Given the description of an element on the screen output the (x, y) to click on. 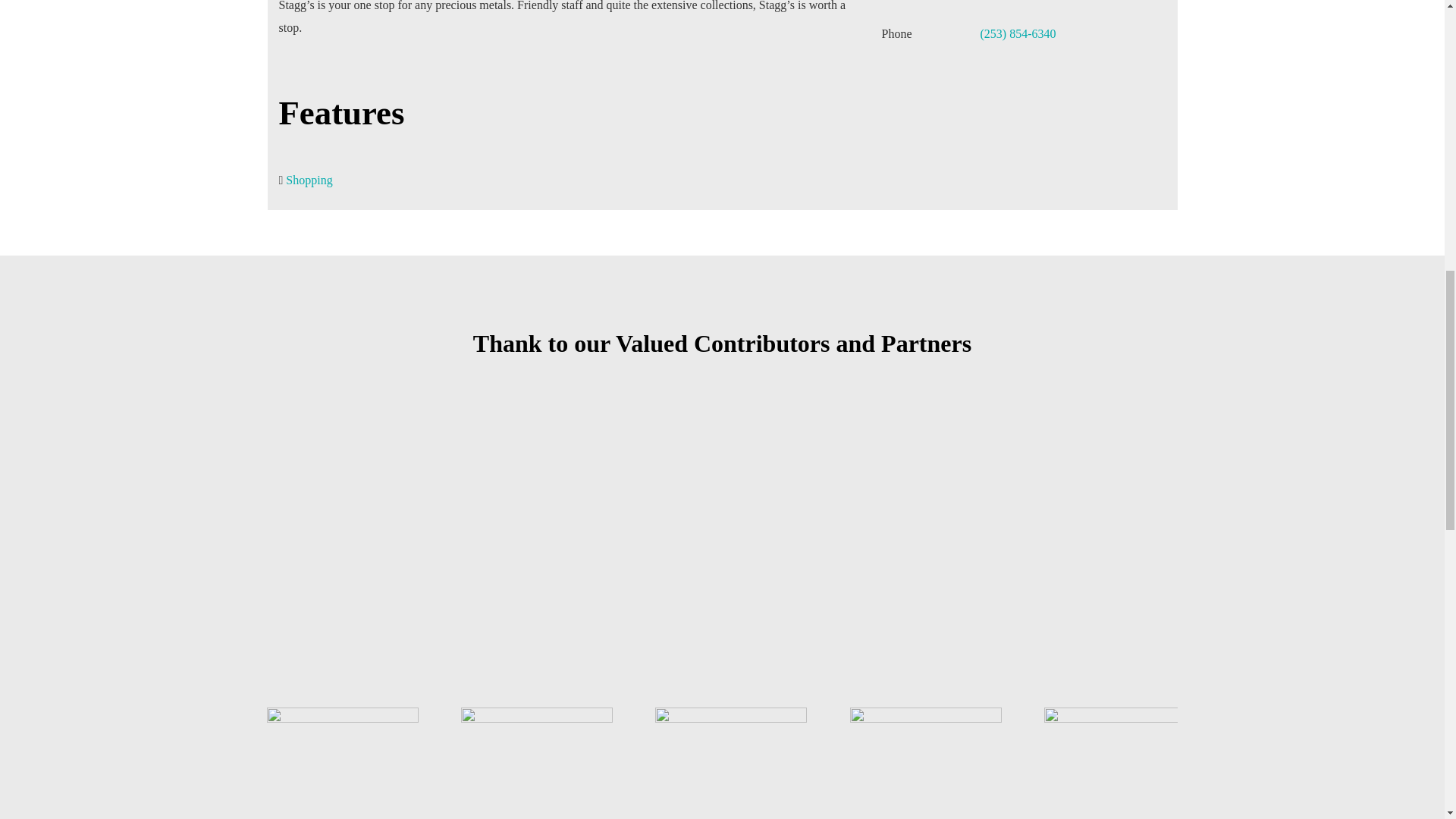
Shopping (308, 179)
